Given the description of an element on the screen output the (x, y) to click on. 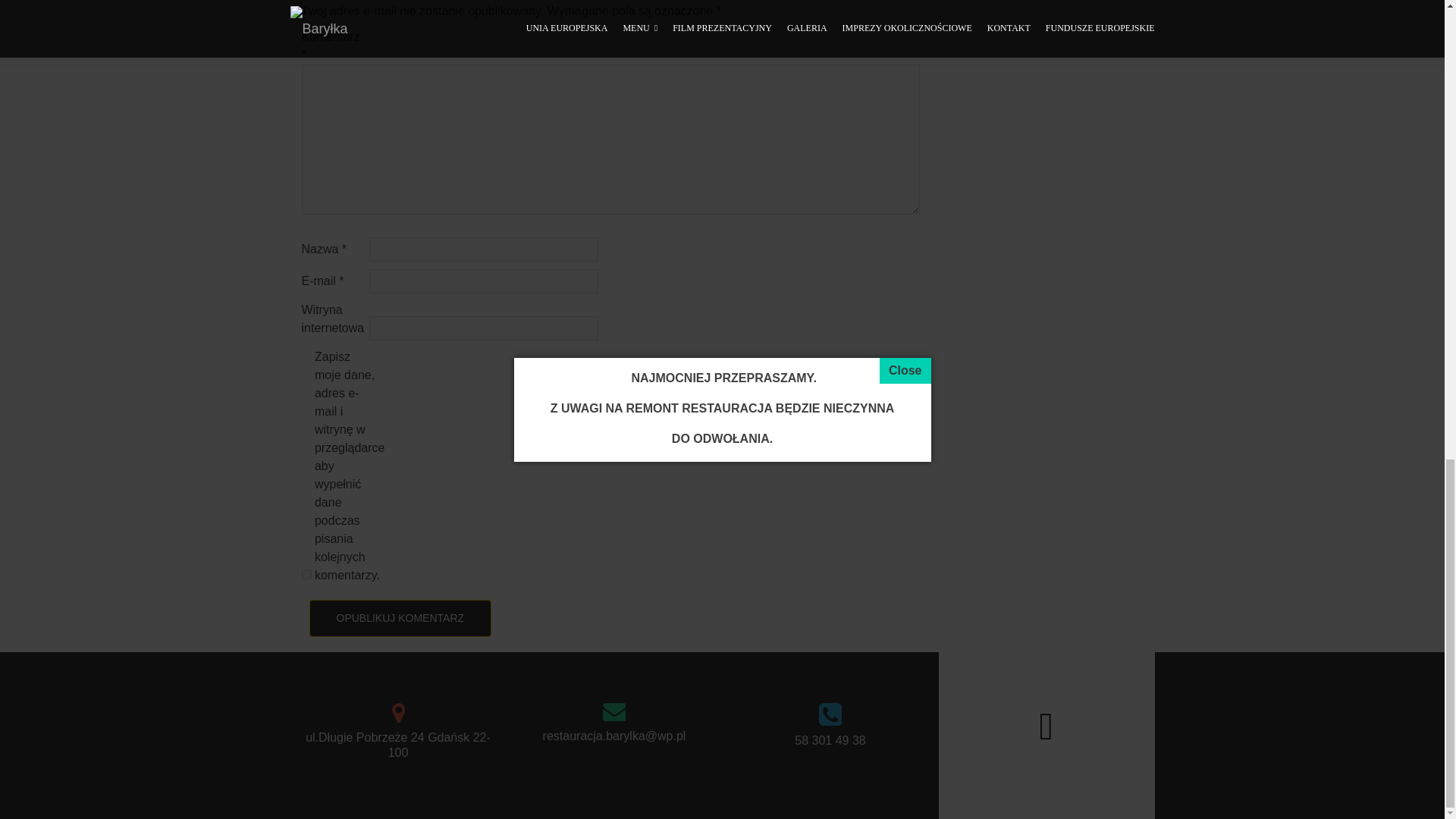
Opublikuj komentarz (400, 618)
yes (306, 574)
Opublikuj komentarz (400, 618)
